Given the description of an element on the screen output the (x, y) to click on. 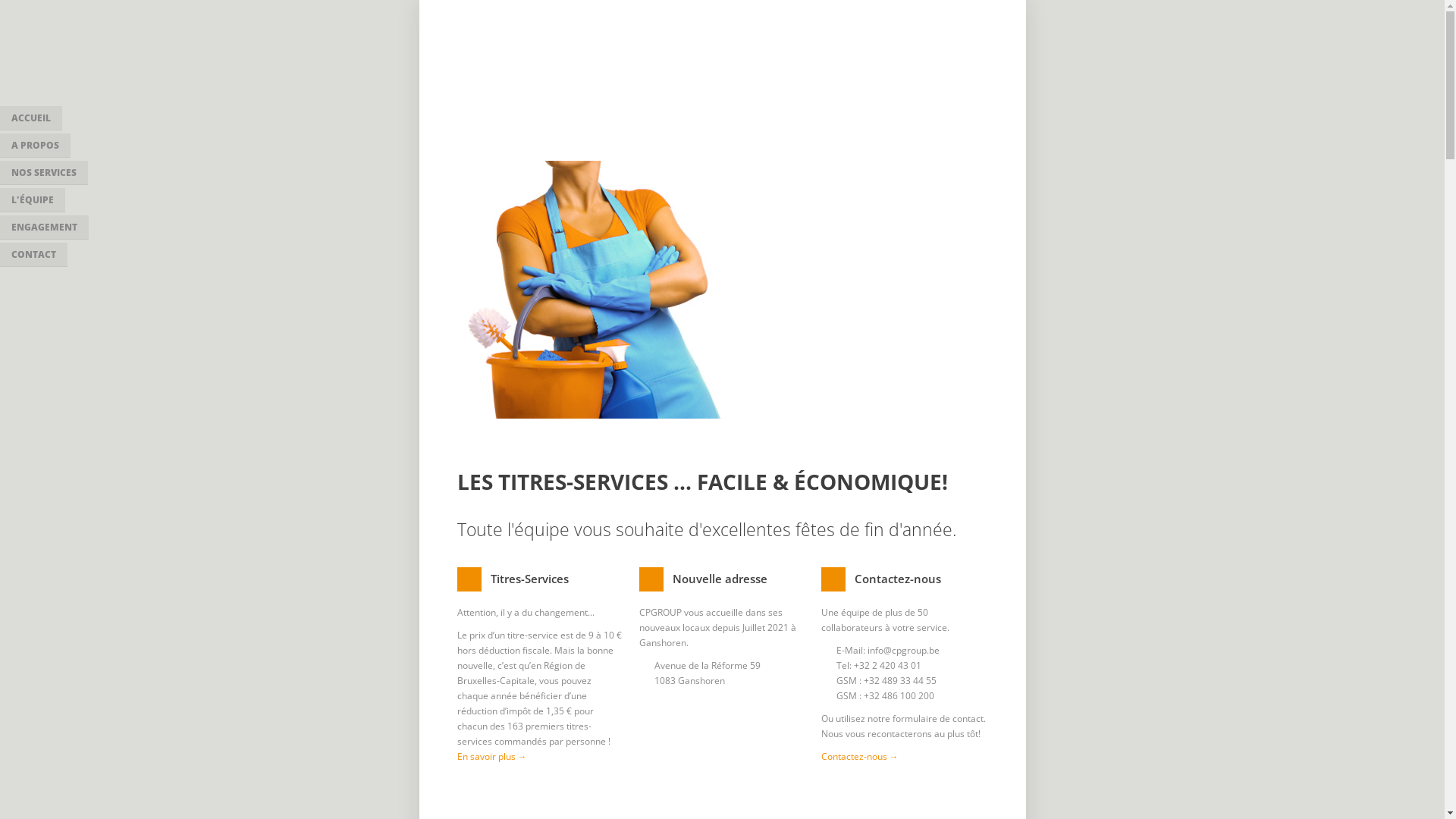
CONTACT Element type: text (33, 254)
CPGroup Element type: text (510, 76)
1083 Ganshoren Element type: text (688, 680)
NOS SERVICES Element type: text (43, 172)
Visitez-nous sur Facebook Element type: text (977, 40)
ENGAGEMENT Element type: text (44, 226)
ACCUEIL Element type: text (31, 117)
A PROPOS Element type: text (35, 144)
info@cpgroup.be Element type: text (903, 649)
